Given the description of an element on the screen output the (x, y) to click on. 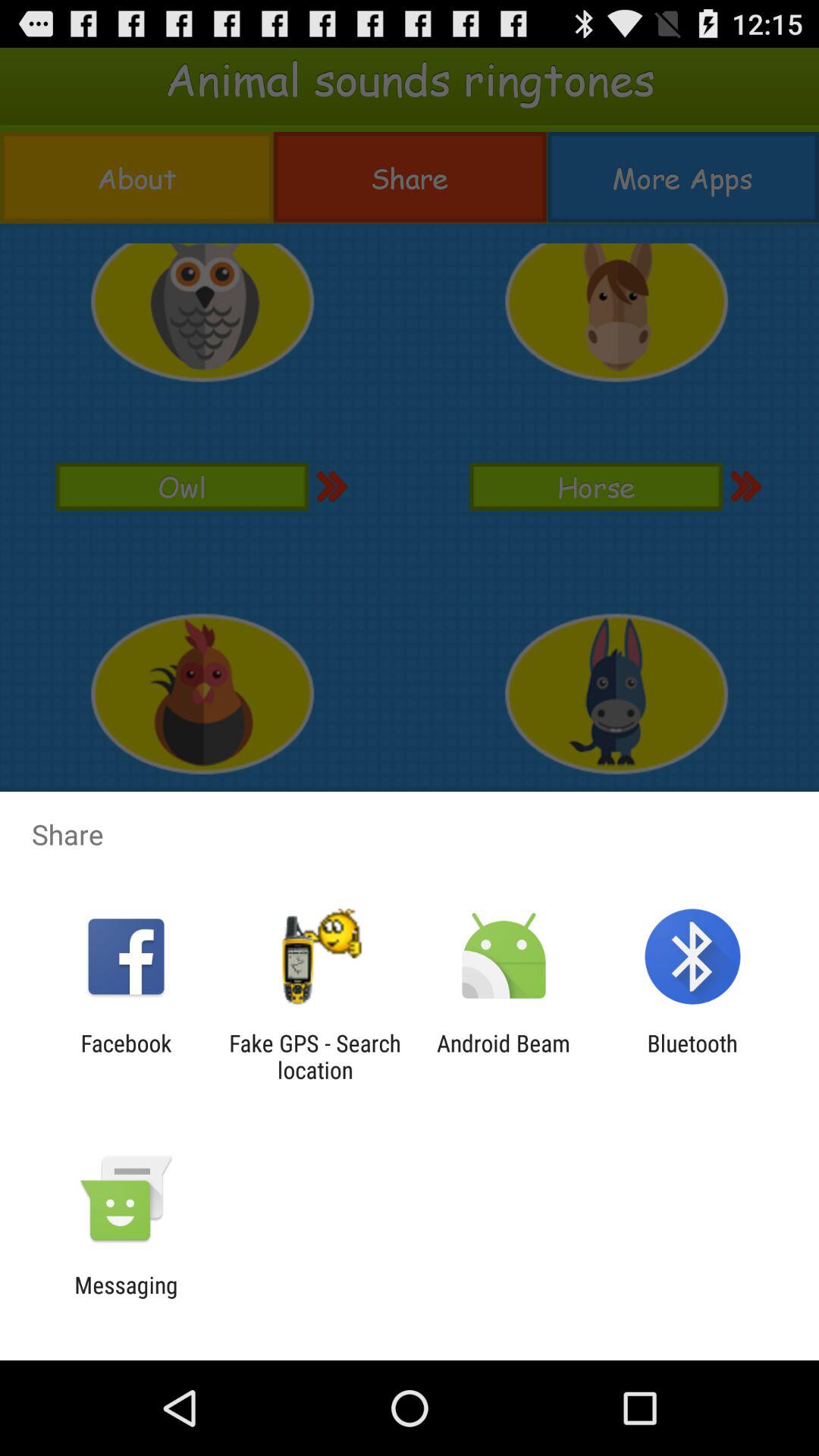
select icon next to the android beam (692, 1056)
